Given the description of an element on the screen output the (x, y) to click on. 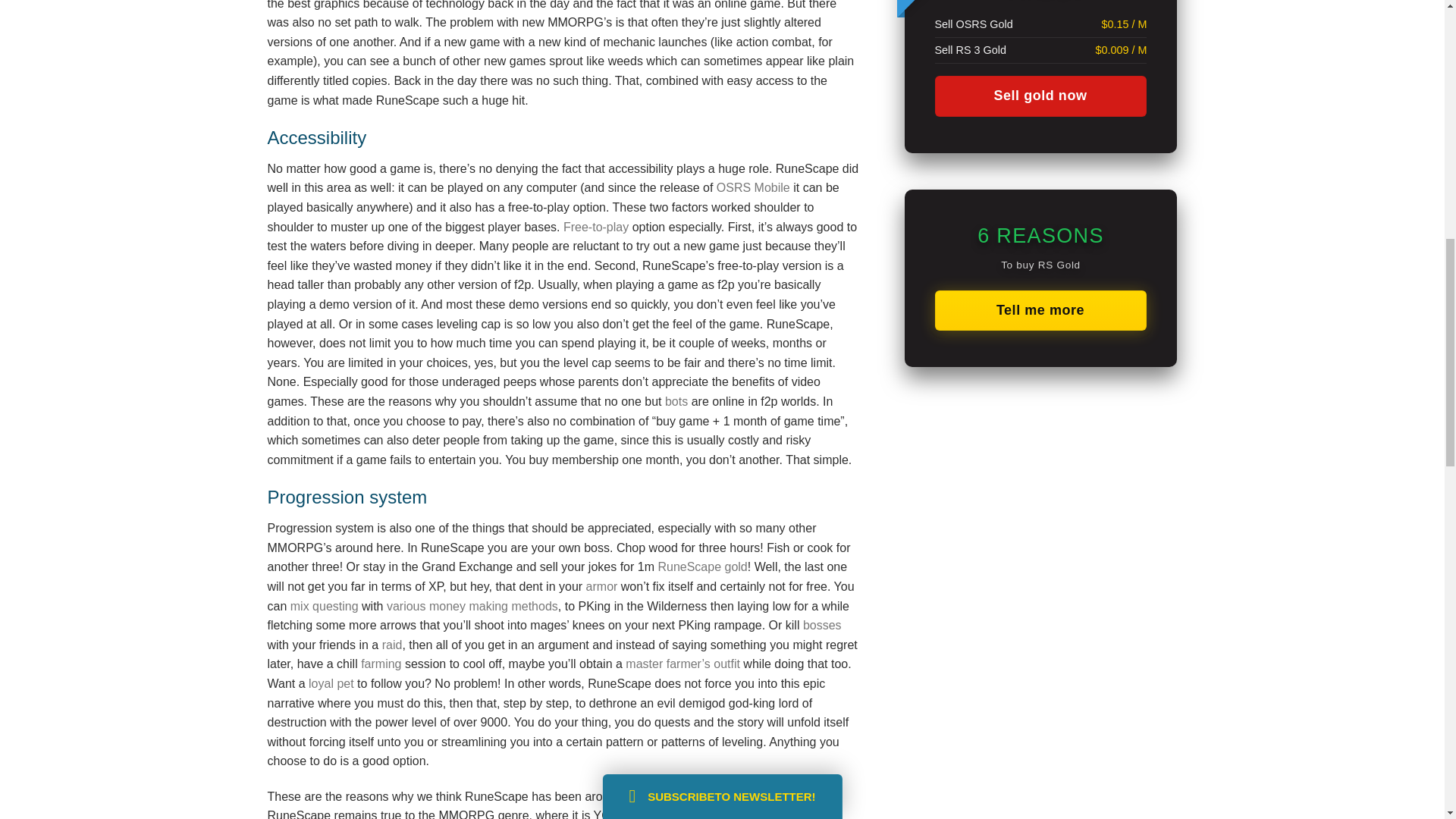
mix questing (323, 605)
OSRS Mobile (753, 187)
RuneScape gold (702, 566)
bots  (678, 400)
raid (392, 644)
various money making methods (472, 605)
Free-to-play (595, 226)
bosses (822, 625)
farming (381, 663)
armor (601, 585)
